Given the description of an element on the screen output the (x, y) to click on. 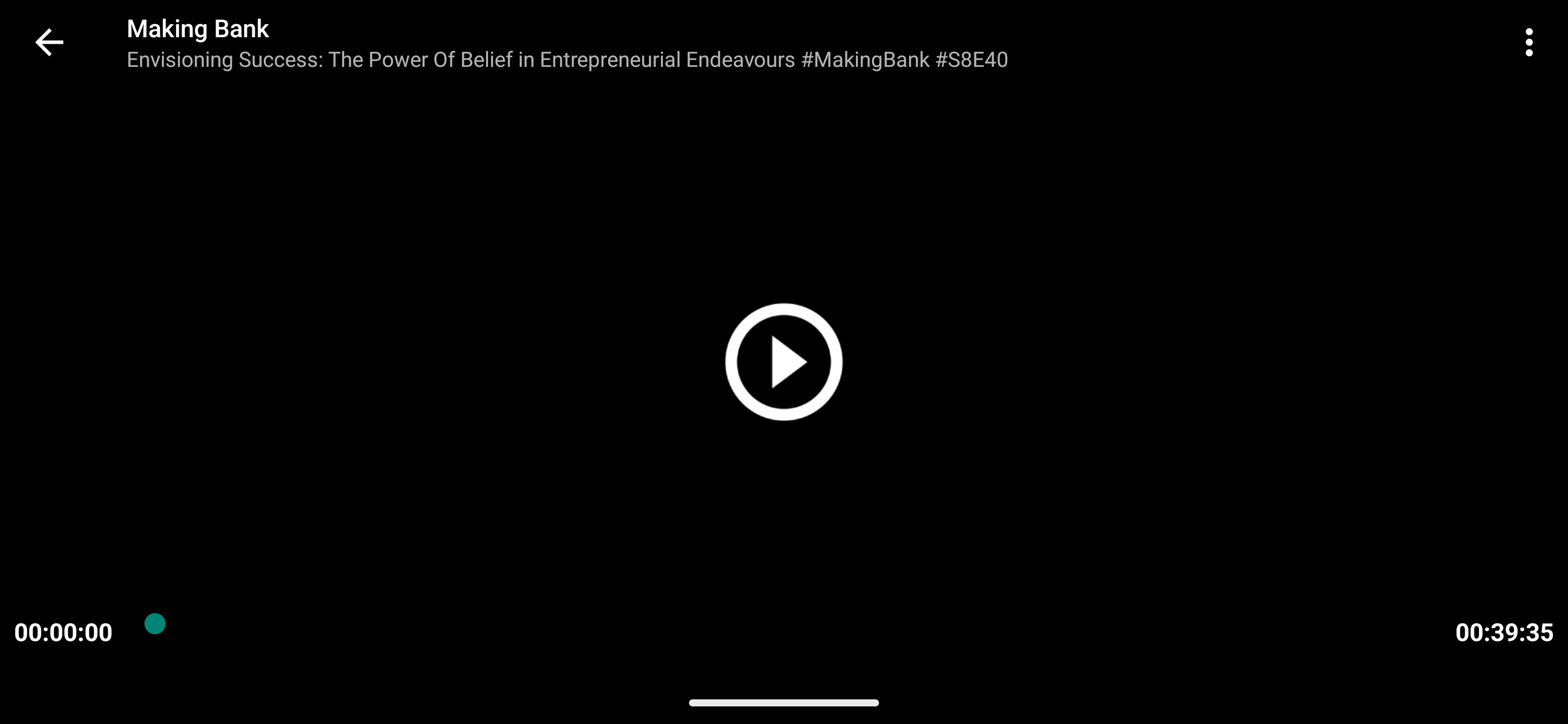
Navigate up (49, 42)
More options (1532, 42)
Play (783, 361)
00:39:35 (1504, 630)
